Given the description of an element on the screen output the (x, y) to click on. 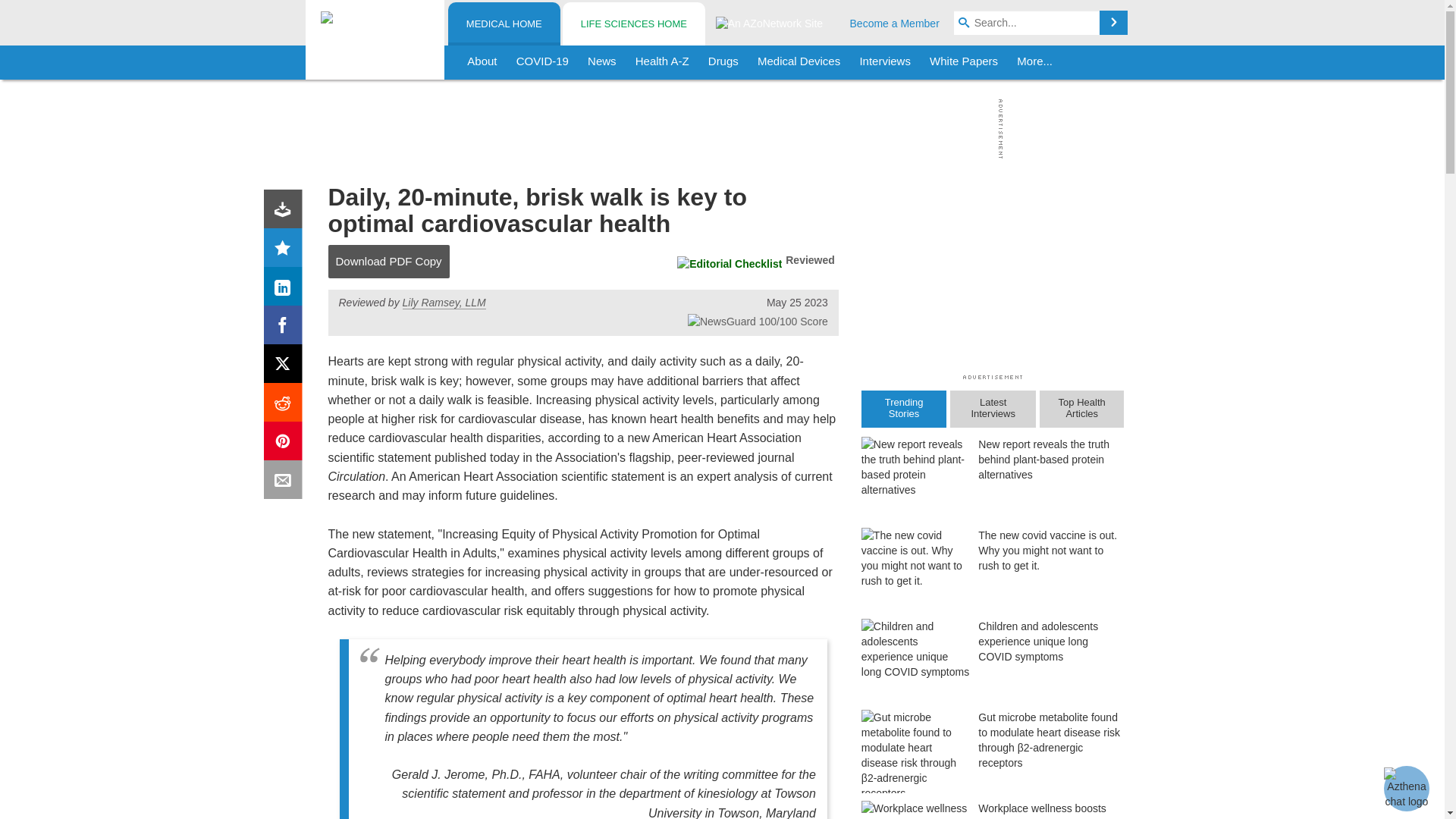
MEDICAL HOME (504, 23)
Facebook (285, 328)
Become a Member (894, 22)
Interviews (884, 62)
Search (1112, 22)
Download PDF copy (285, 212)
LIFE SCIENCES HOME (633, 23)
Medical Devices (798, 62)
Pinterest (285, 443)
